Given the description of an element on the screen output the (x, y) to click on. 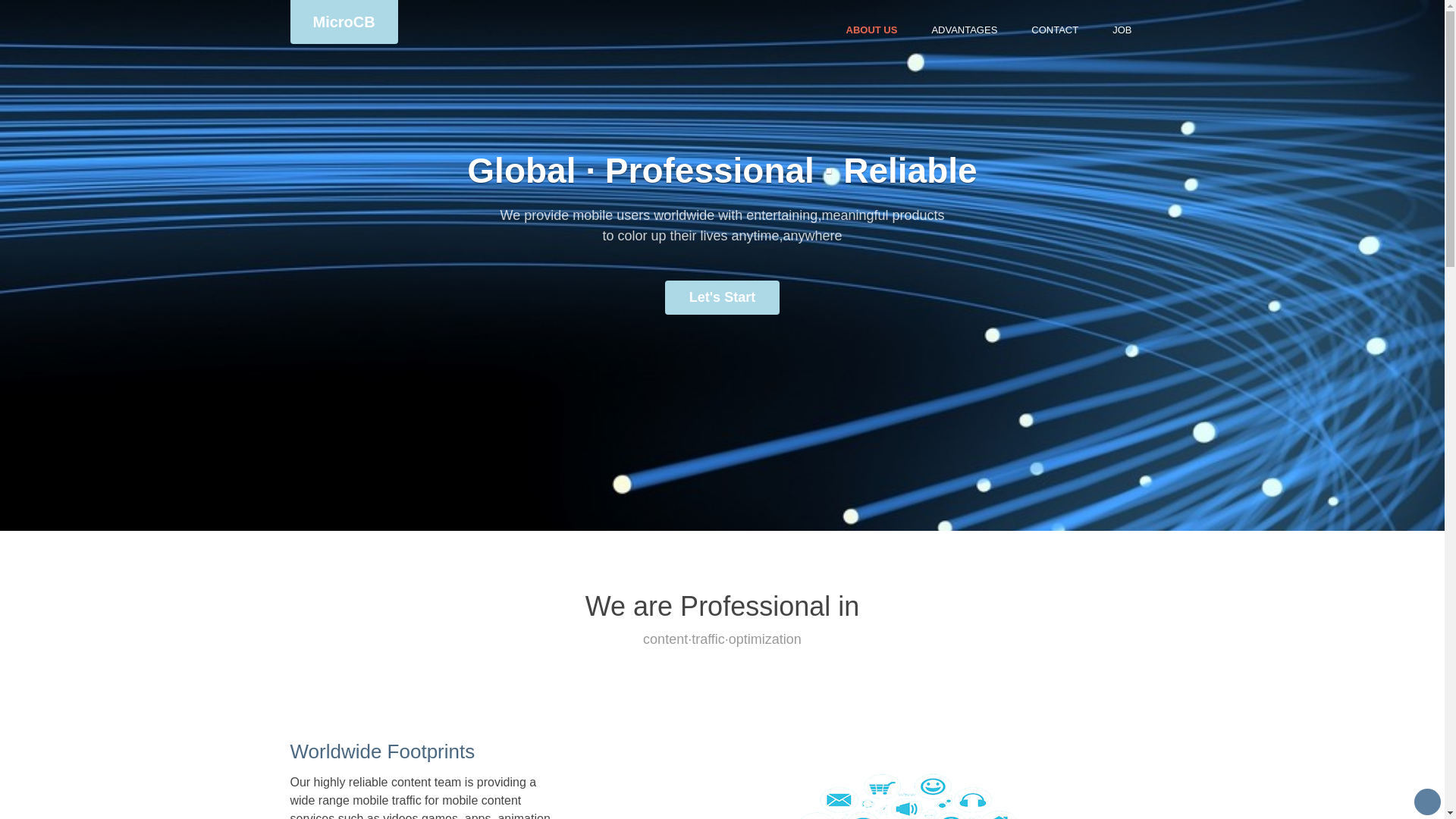
JOB (1121, 30)
CONTACT (1054, 30)
Let's Start (721, 297)
ADVANTAGES (964, 30)
ABOUT US (871, 30)
MicroCB (343, 22)
Scroll Back to Top (1427, 801)
